Given the description of an element on the screen output the (x, y) to click on. 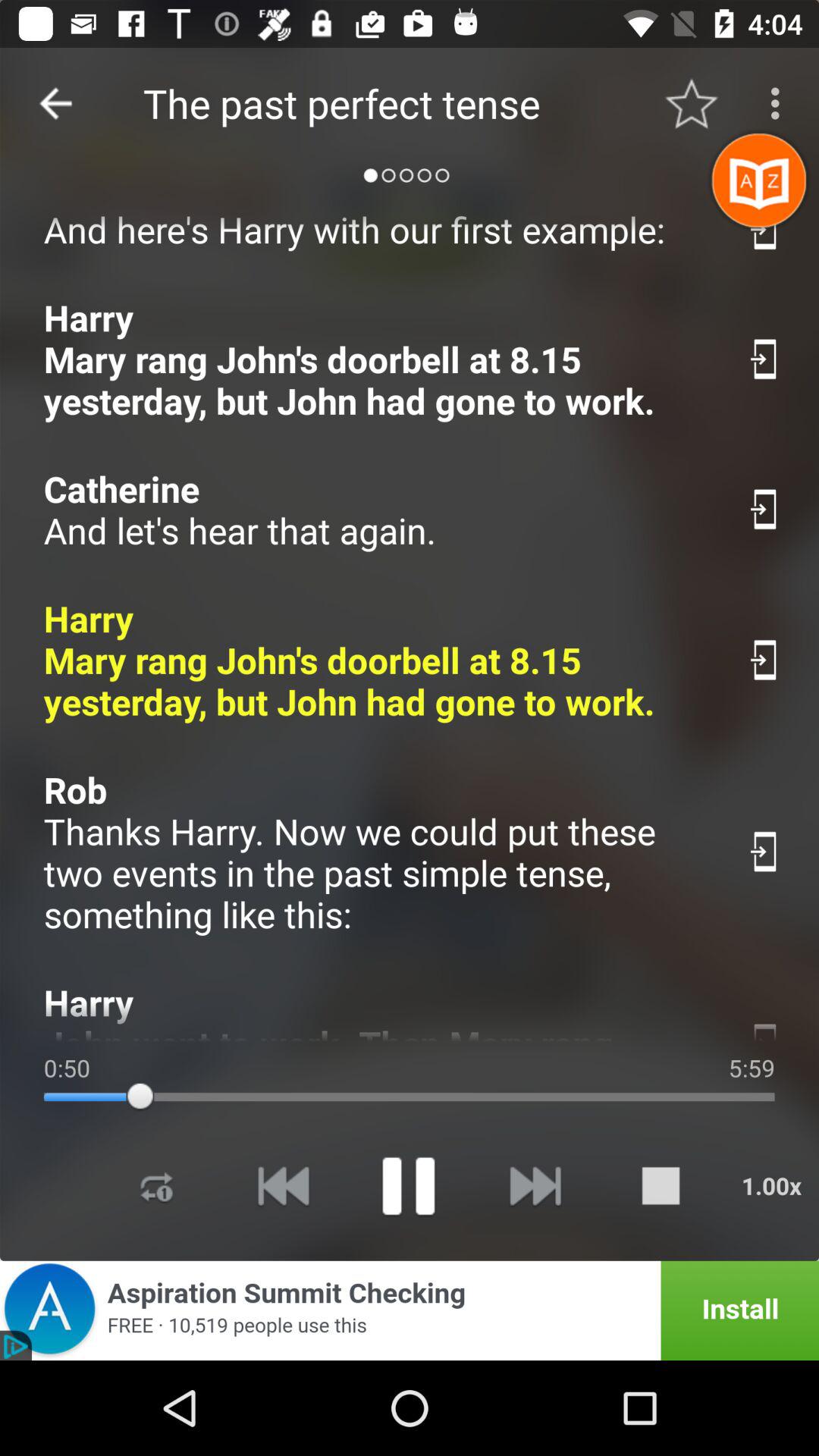
download this phrase for offline use (765, 851)
